Given the description of an element on the screen output the (x, y) to click on. 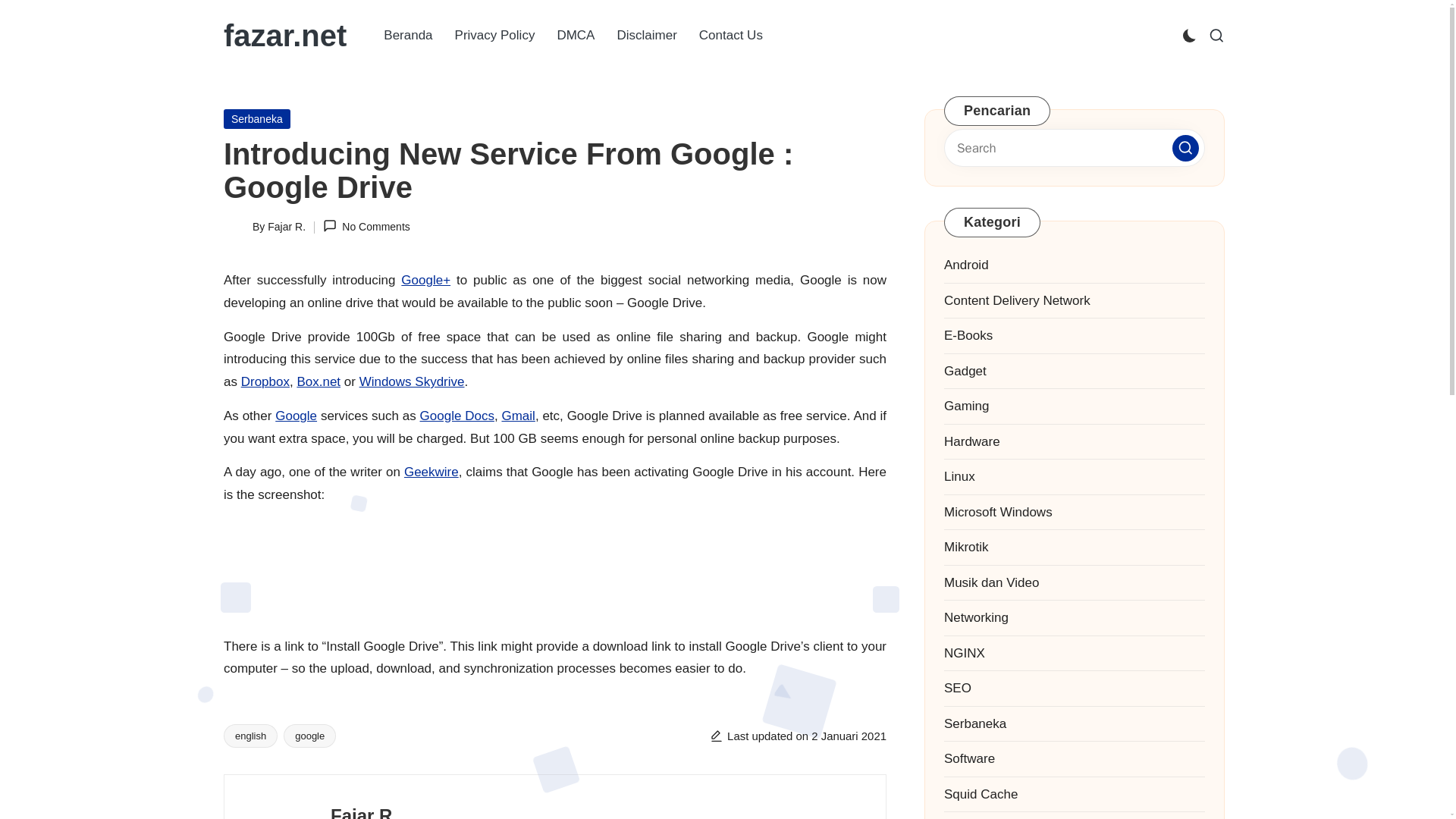
DMCA (575, 35)
Fajar R. (286, 226)
No Comments (366, 226)
Serbaneka (256, 118)
Fajar R. (363, 812)
Content Delivery Network (1074, 301)
Windows Skydrive (411, 381)
fazar.net (285, 35)
E-Books (1074, 335)
Dropbox (265, 381)
